Given the description of an element on the screen output the (x, y) to click on. 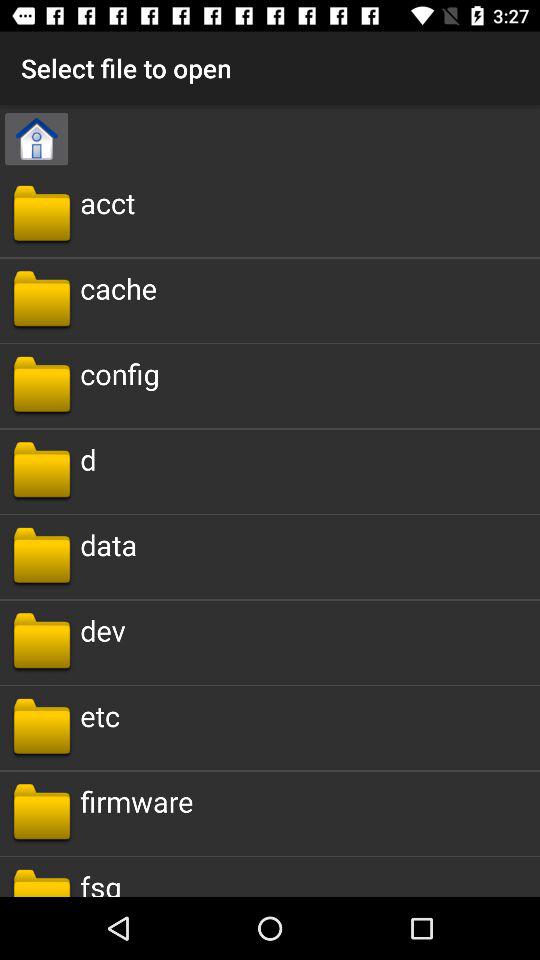
open data item (108, 544)
